Given the description of an element on the screen output the (x, y) to click on. 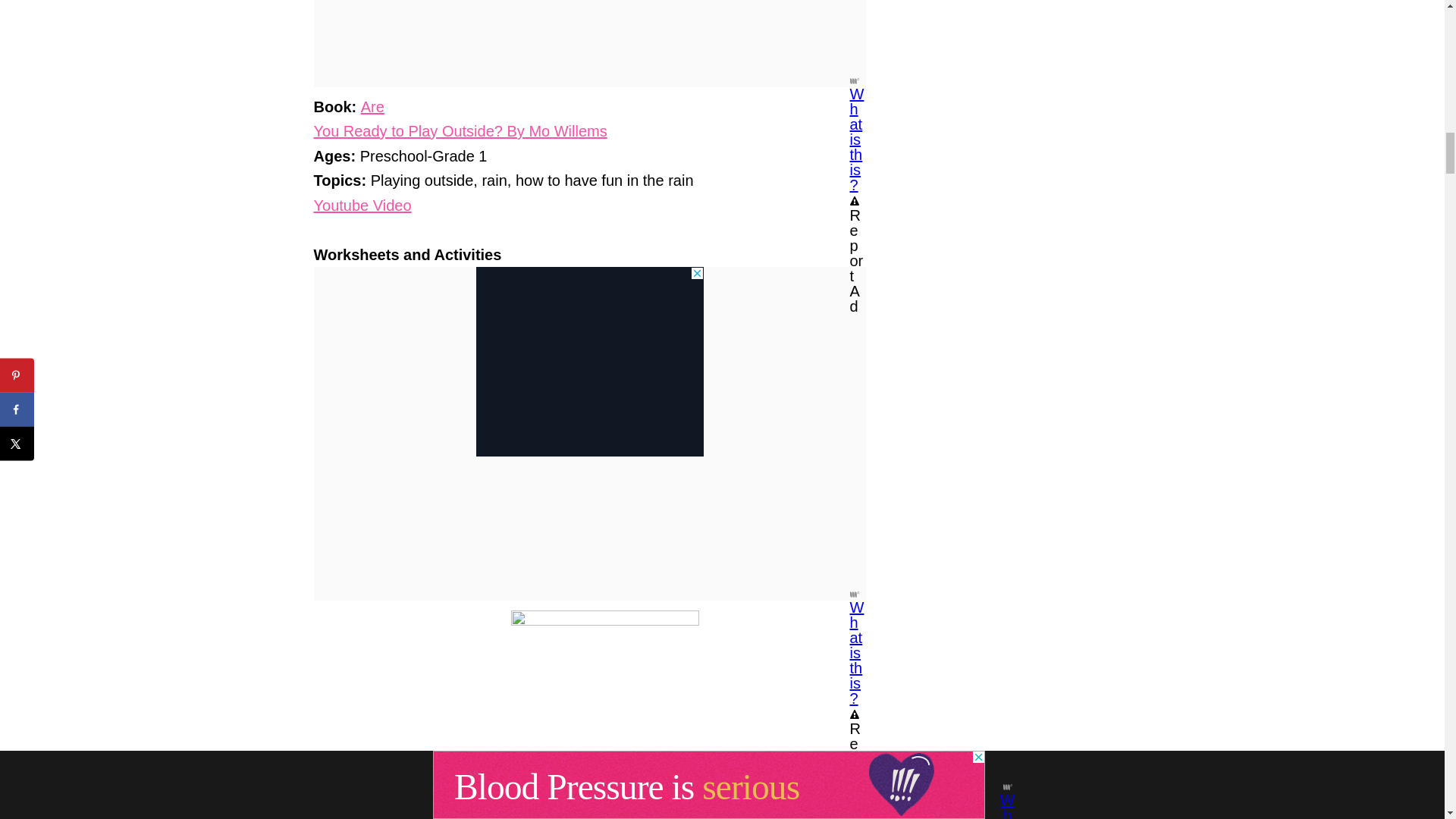
3rd party ad content (589, 361)
